Given the description of an element on the screen output the (x, y) to click on. 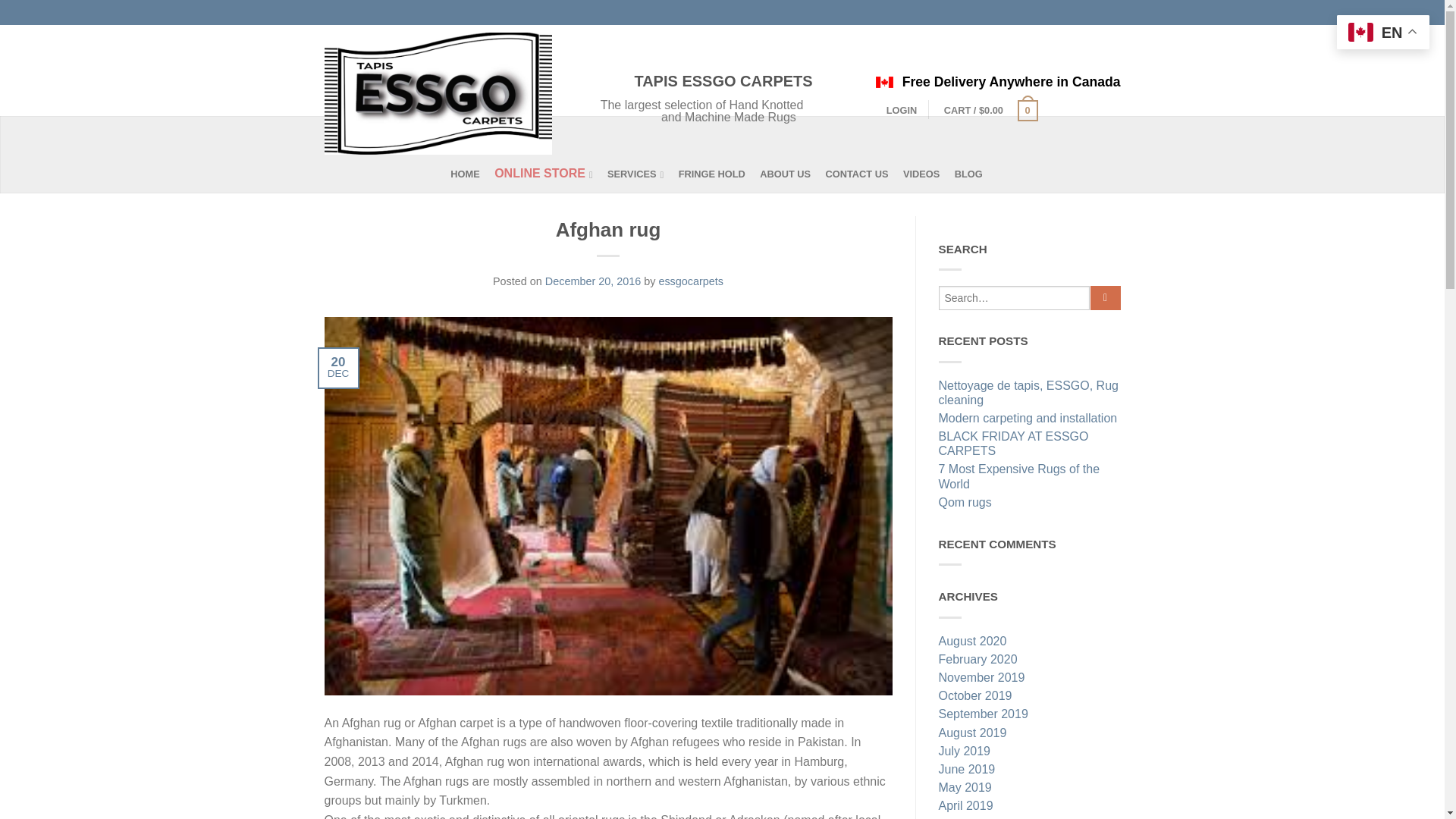
essgocarpets (690, 281)
BLOG (974, 173)
SERVICES (641, 173)
LOGIN (901, 110)
CONTACT US (862, 173)
ONLINE STORE (549, 173)
HOME (469, 173)
ABOUT US (791, 173)
FRINGE HOLD (717, 173)
December 20, 2016 (592, 281)
